Given the description of an element on the screen output the (x, y) to click on. 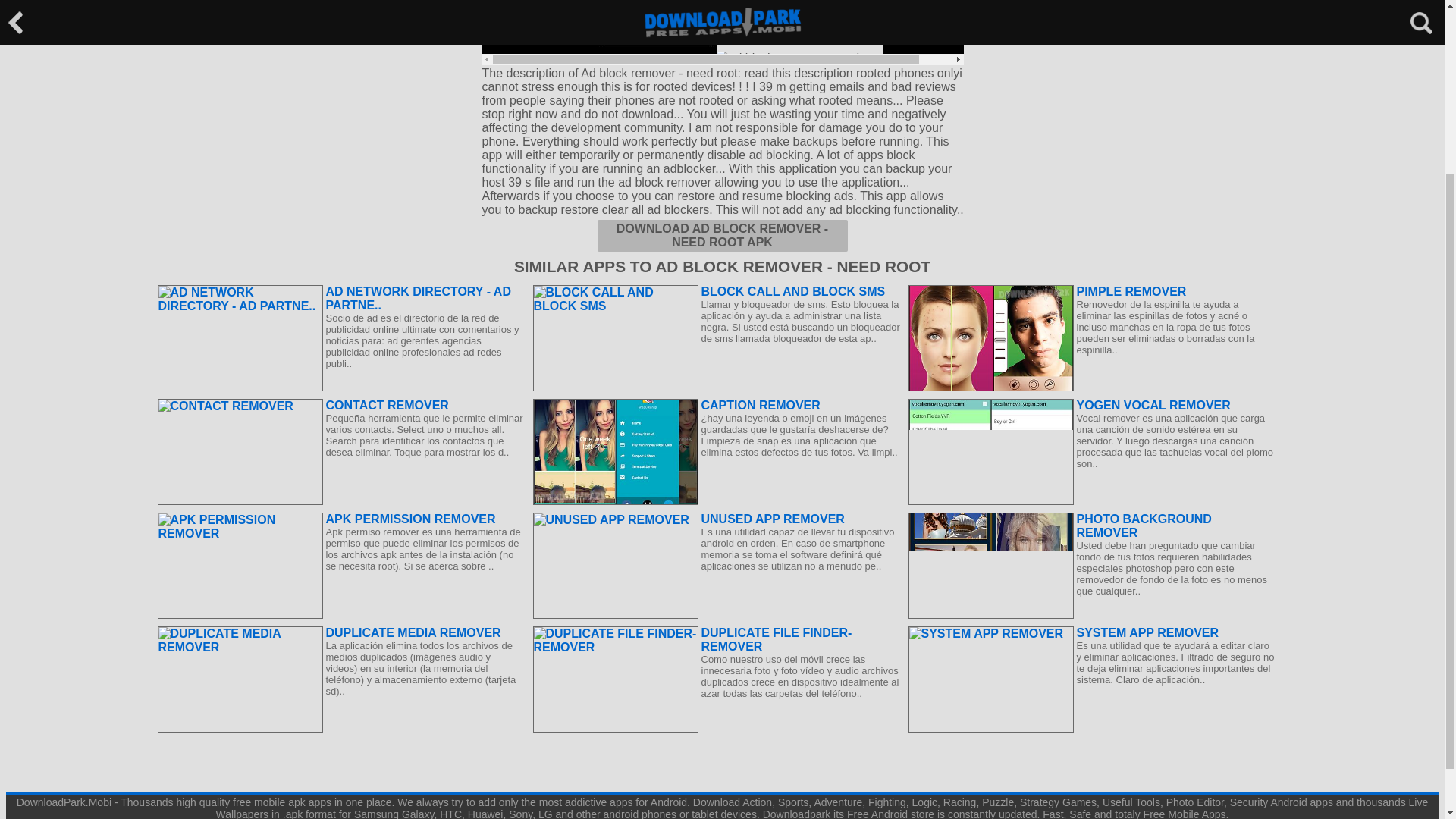
PIMPLE REMOVER (1092, 291)
SYSTEM APP REMOVER (1092, 632)
YOGEN VOCAL REMOVER (1092, 405)
UNUSED APP REMOVER (715, 519)
CAPTION REMOVER (715, 405)
AD NETWORK DIRECTORY - AD PARTNE.. (341, 298)
APK PERMISSION REMOVER (341, 519)
DOWNLOAD AD BLOCK REMOVER - NEED ROOT APK (721, 235)
DUPLICATE FILE FINDER-REMOVER (715, 639)
PHOTO BACKGROUND REMOVER (1092, 525)
DUPLICATE MEDIA REMOVER (341, 632)
BLOCK CALL AND BLOCK SMS (715, 291)
CONTACT REMOVER (341, 405)
